Given the description of an element on the screen output the (x, y) to click on. 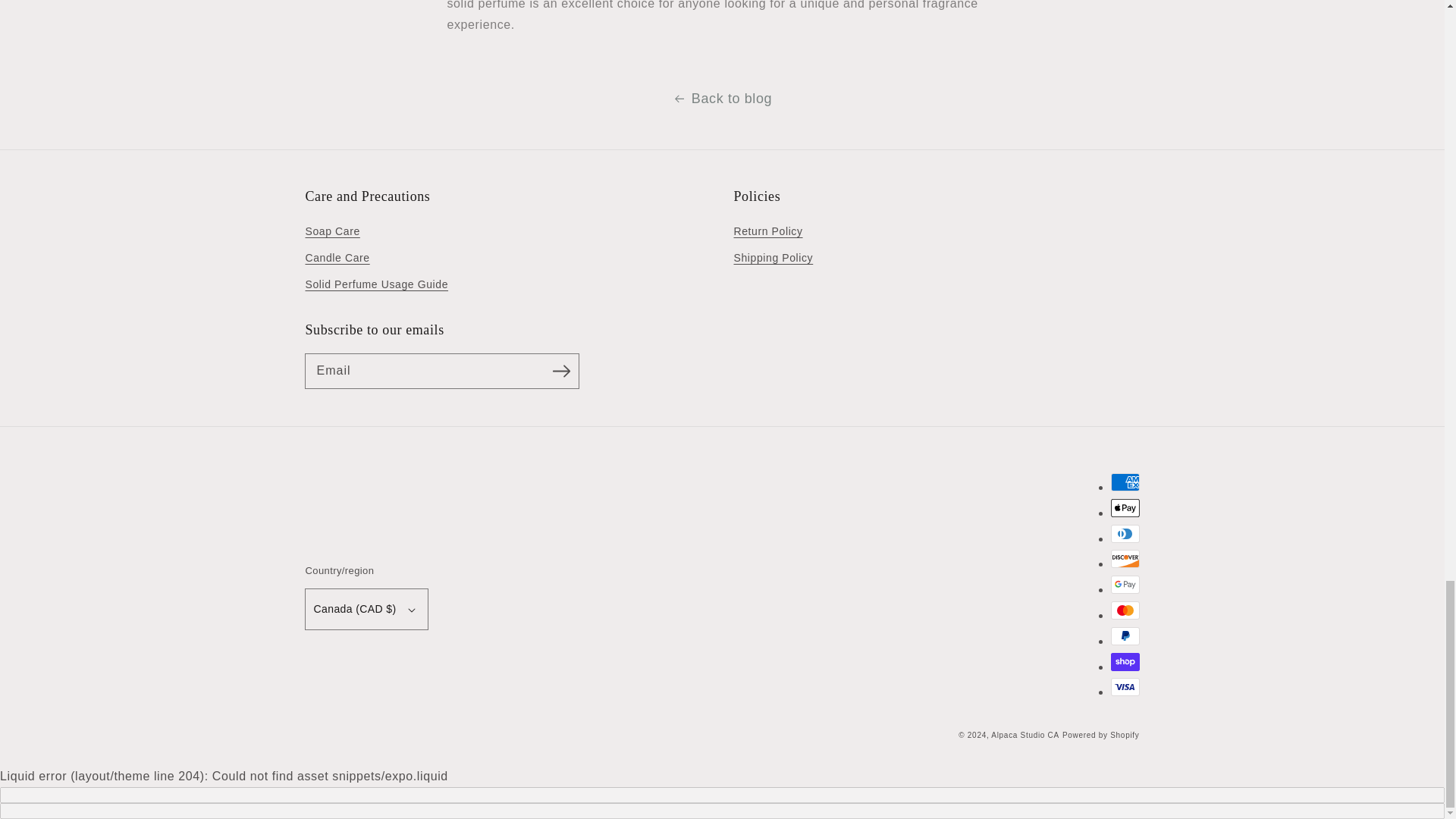
Mastercard (1123, 610)
Visa (1123, 687)
American Express (1123, 482)
Google Pay (1123, 584)
Shop Pay (1123, 661)
Diners Club (1123, 533)
Apple Pay (1123, 507)
PayPal (1123, 636)
Discover (1123, 558)
